Given the description of an element on the screen output the (x, y) to click on. 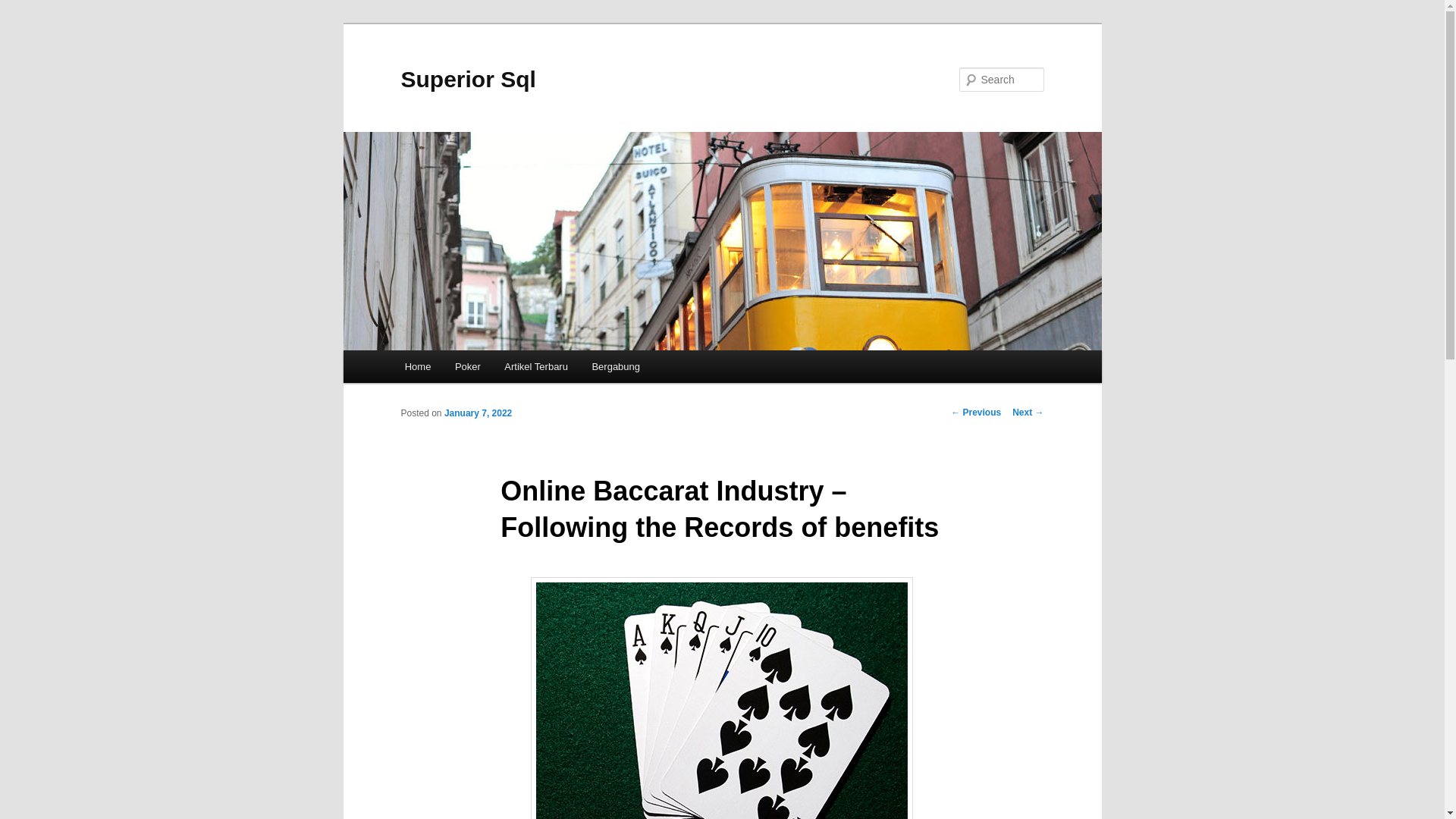
Search (24, 8)
Home (417, 366)
4:42 pm (478, 412)
Artikel Terbaru (536, 366)
Bergabung (615, 366)
Poker (467, 366)
January 7, 2022 (478, 412)
Superior Sql (467, 78)
